Given the description of an element on the screen output the (x, y) to click on. 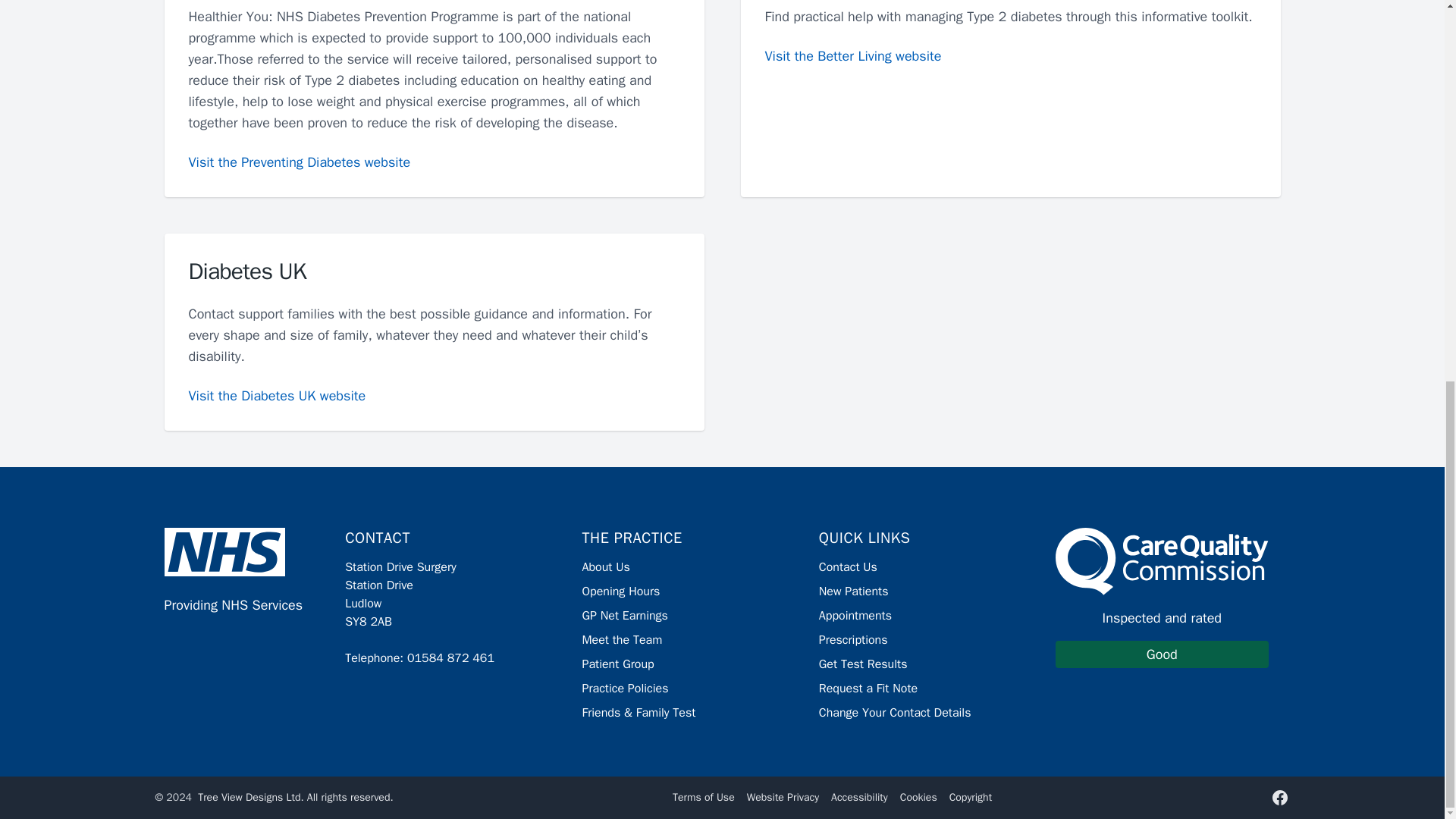
Tree View Designs Ltd. All rights reserved. (295, 797)
About Us (604, 566)
Opening Hours (619, 590)
Practice Policies (1161, 597)
Visit the Diabetes UK website (624, 688)
Contact Us (276, 395)
Visit the Better Living website (847, 566)
Visit the Preventing Diabetes website (852, 55)
GP Net Earnings (298, 161)
Meet the Team (623, 615)
Get Test Results (621, 639)
Change Your Contact Details (862, 663)
Patient Group (894, 712)
Appointments (616, 663)
